Given the description of an element on the screen output the (x, y) to click on. 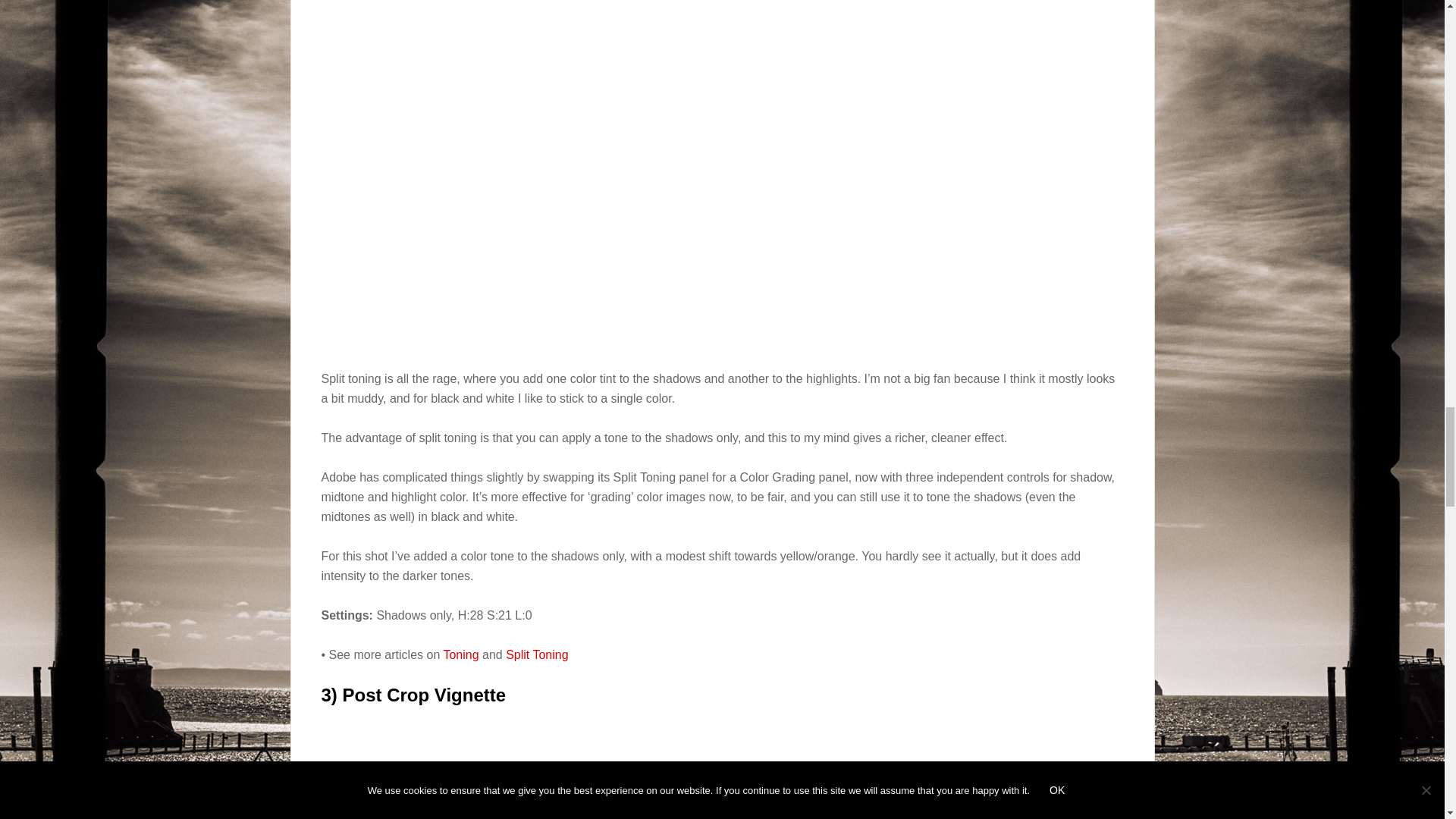
Split Toning (536, 654)
Toning (460, 654)
